Given the description of an element on the screen output the (x, y) to click on. 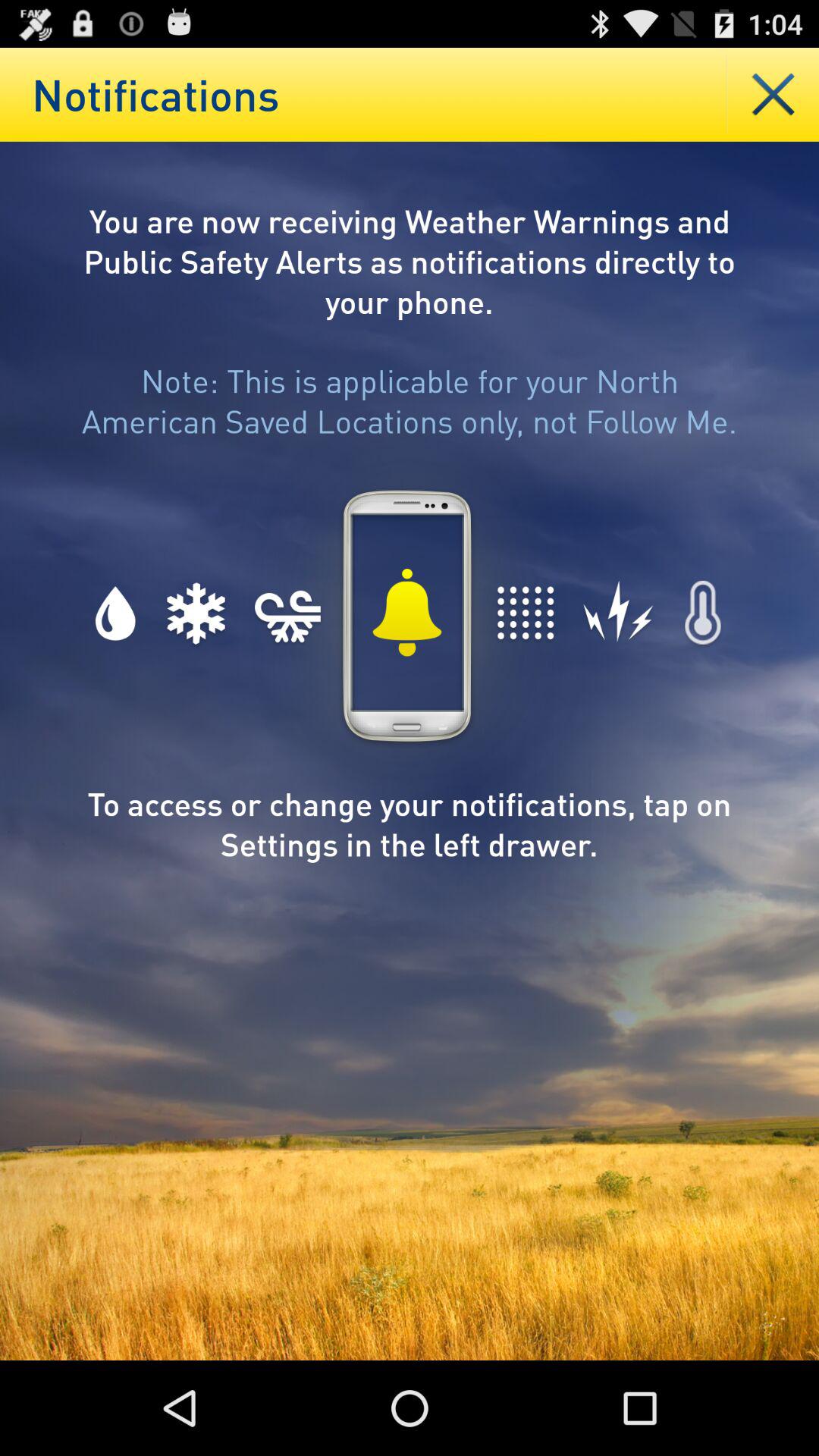
close notifications (773, 94)
